Given the description of an element on the screen output the (x, y) to click on. 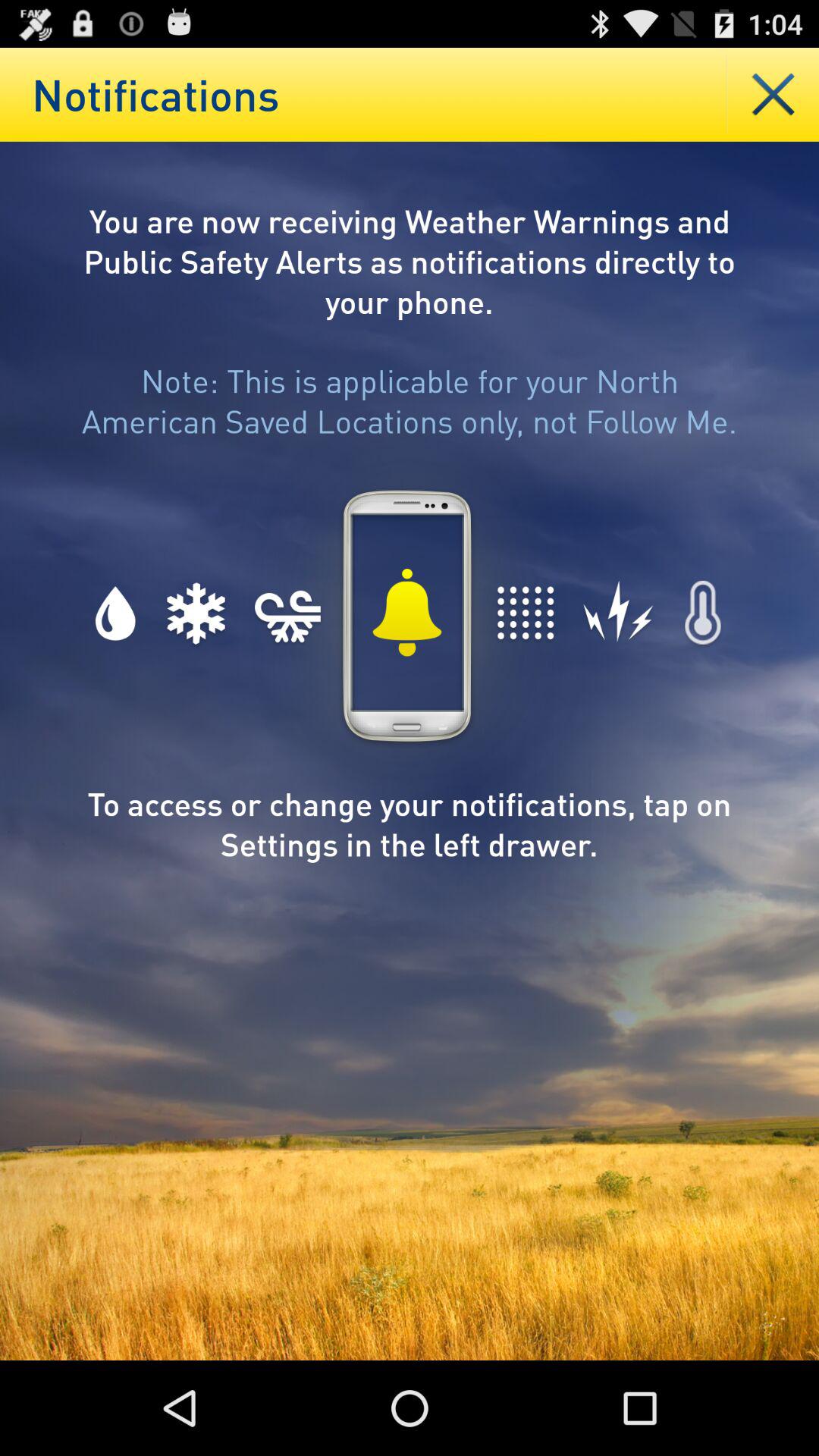
close notifications (773, 94)
